Given the description of an element on the screen output the (x, y) to click on. 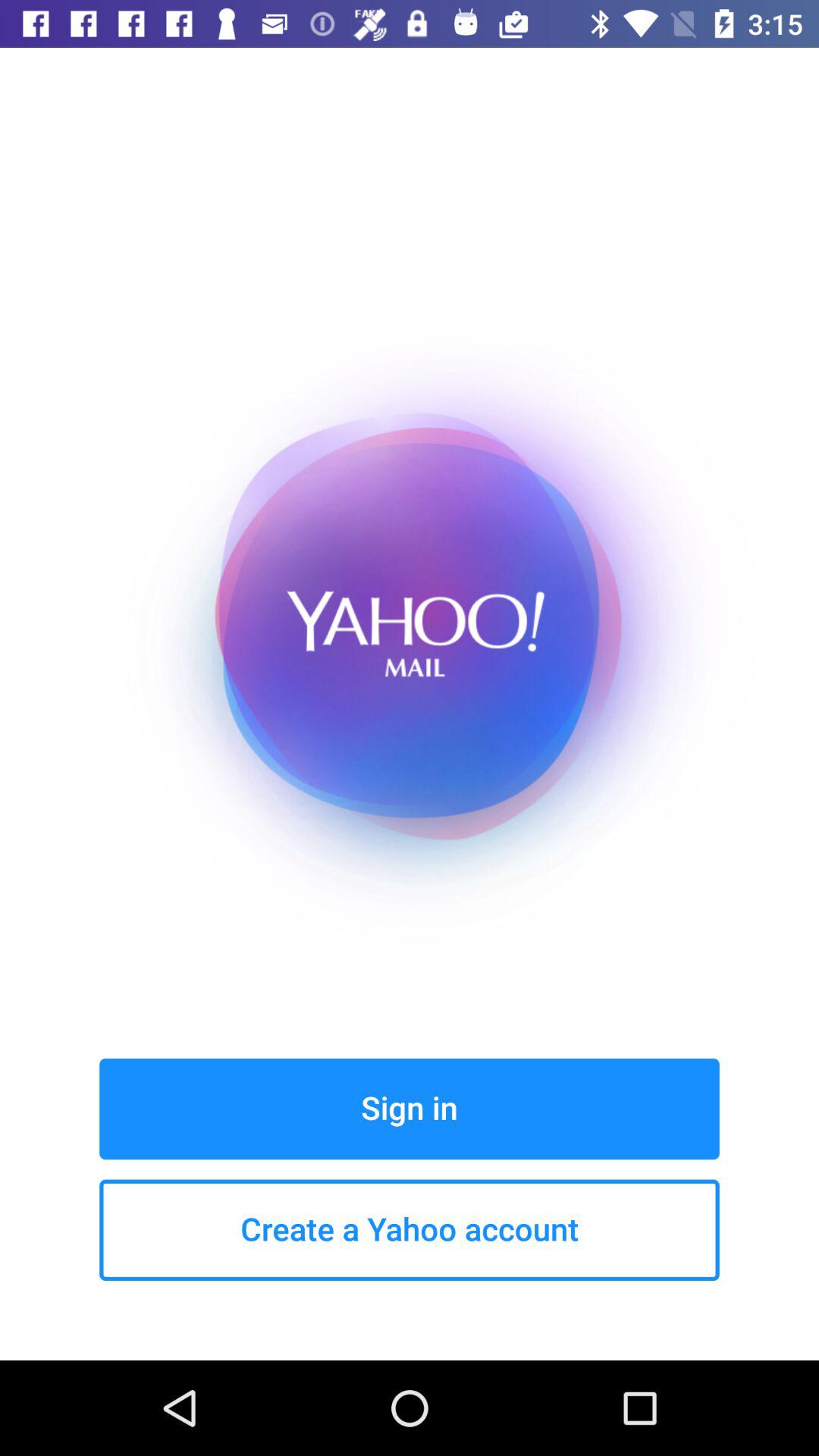
tap the create a yahoo item (409, 1229)
